Given the description of an element on the screen output the (x, y) to click on. 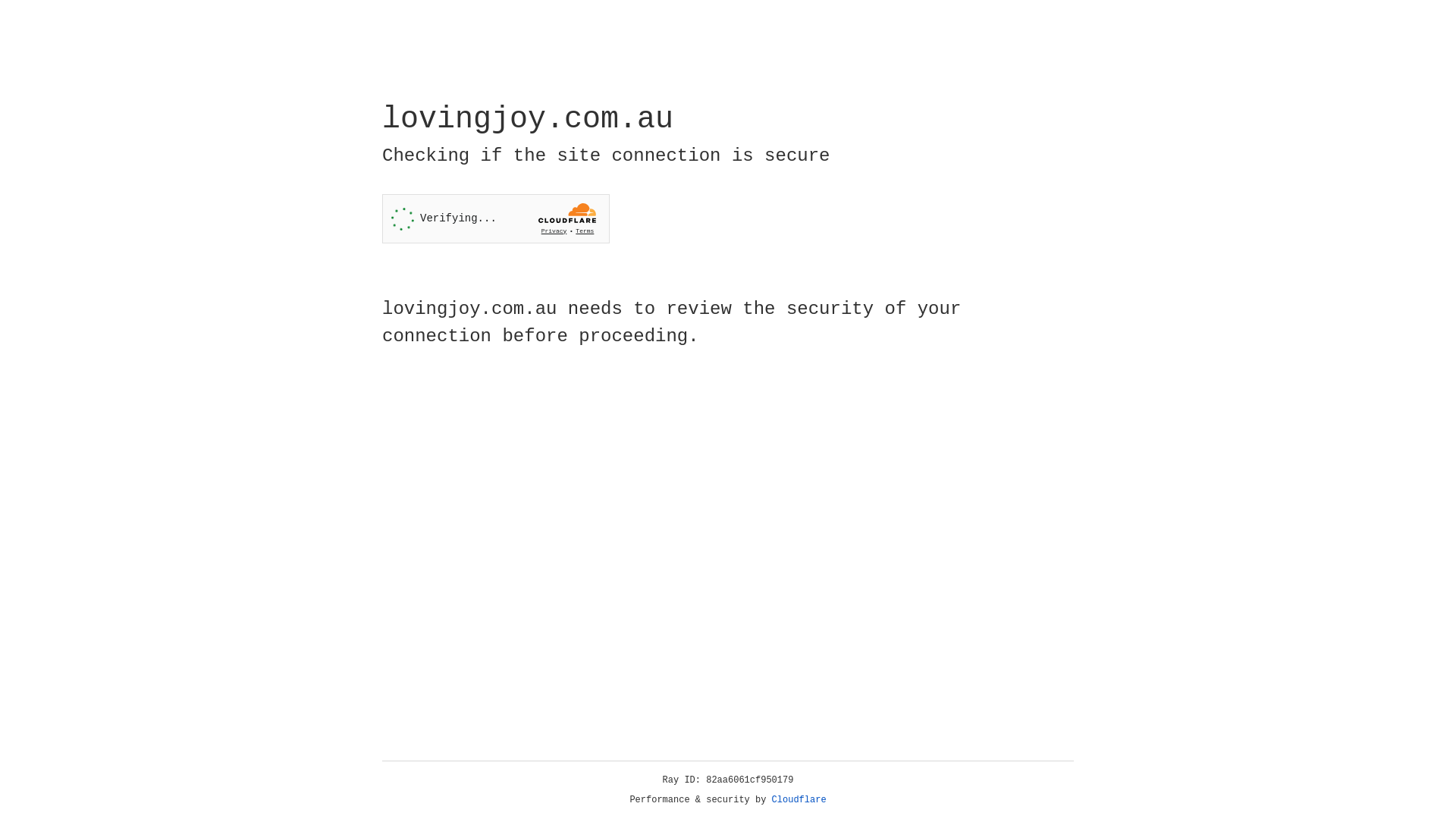
Cloudflare Element type: text (798, 799)
Widget containing a Cloudflare security challenge Element type: hover (495, 218)
